Given the description of an element on the screen output the (x, y) to click on. 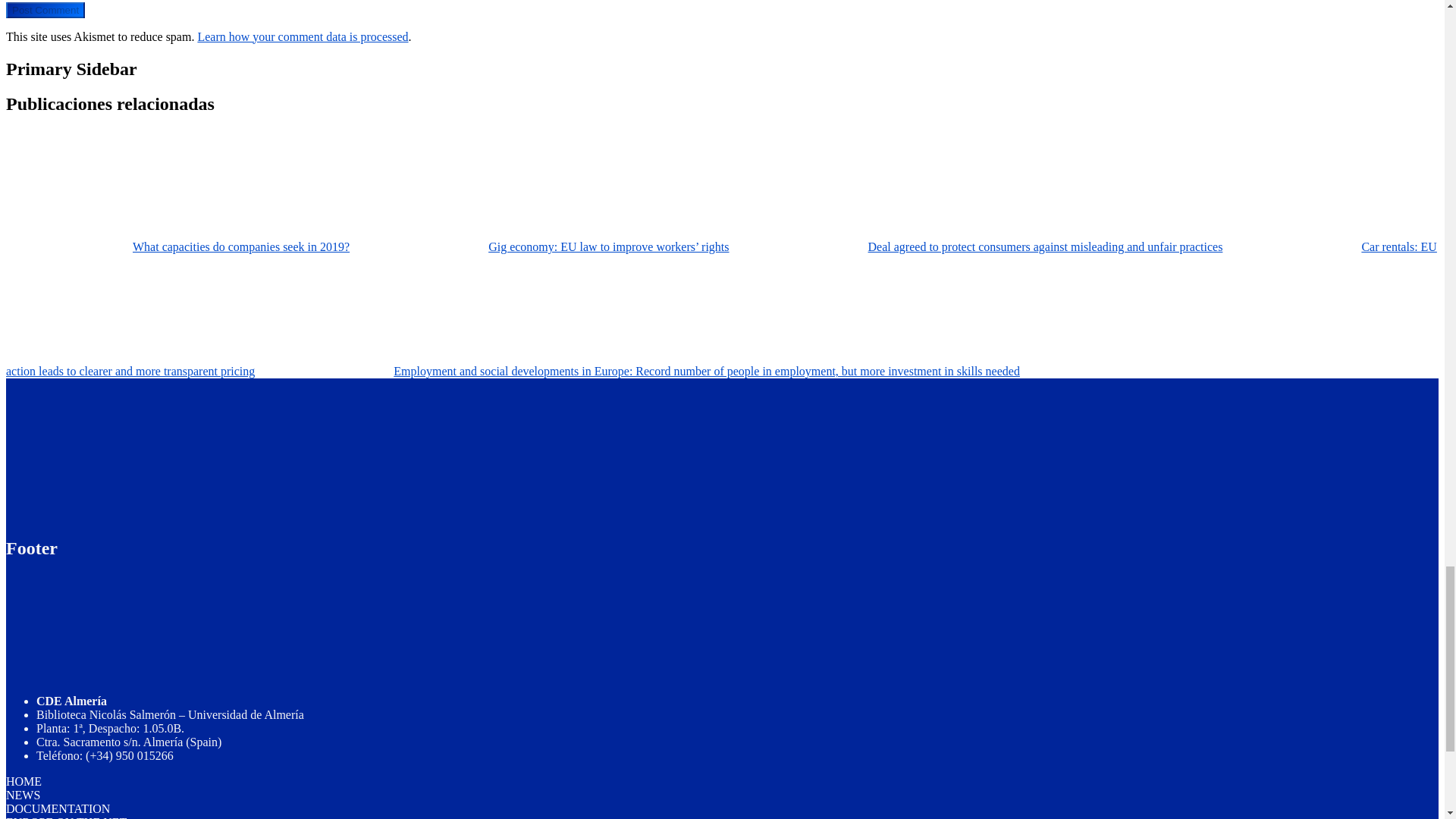
What capacities do companies seek in 2019? (180, 246)
Post Comment (44, 10)
